Given the description of an element on the screen output the (x, y) to click on. 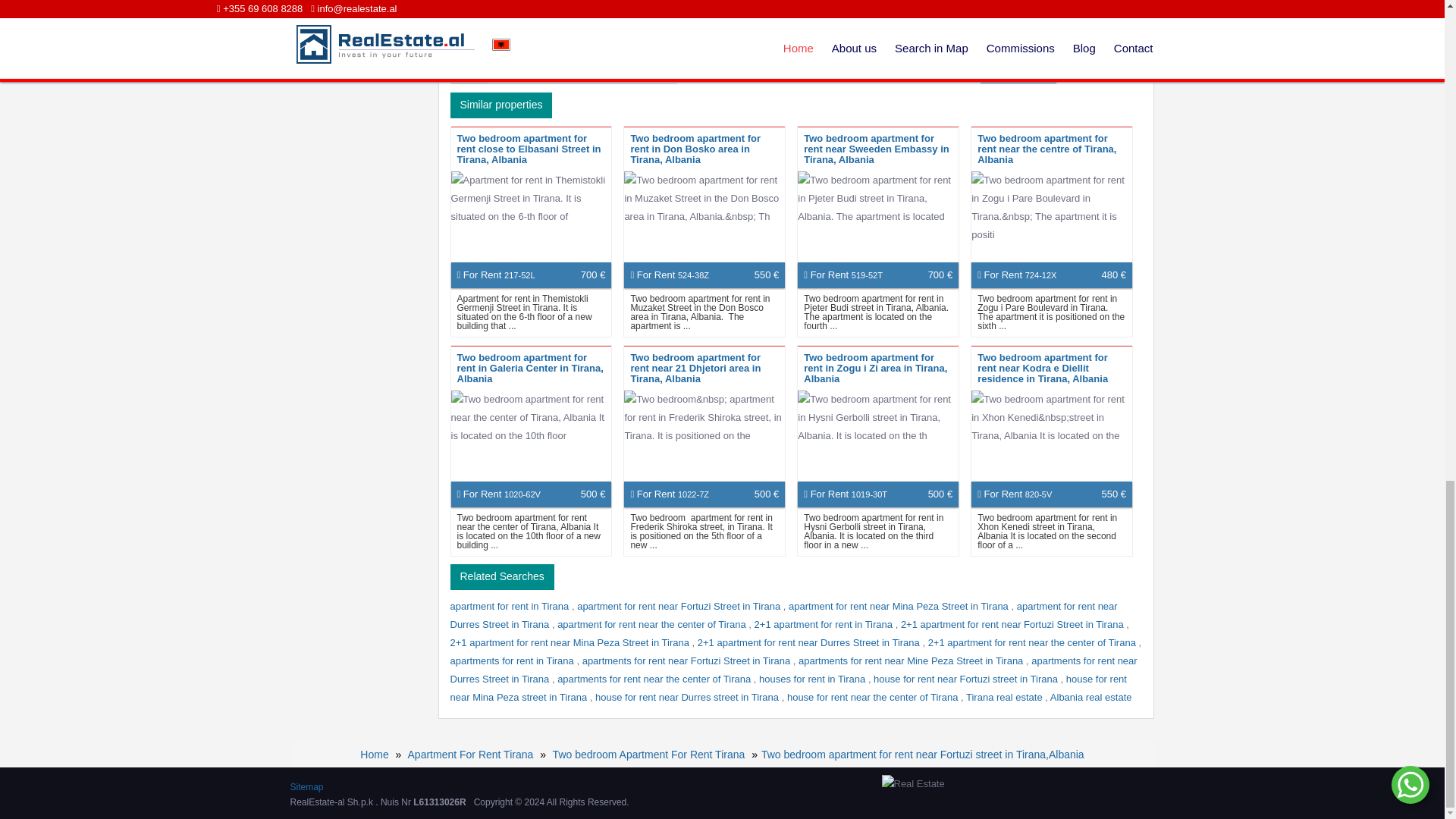
apartment for rent near the center of Tirana (652, 624)
Send message (1018, 71)
Related Searches (501, 576)
apartment for rent near Fortuzi Street in Tirana (679, 605)
Similar properties (501, 104)
apartment for rent in Tirana (510, 605)
apartment for rent near Mina Peza Street in Tirana (899, 605)
Send message (1018, 71)
apartment for rent near Durres Street in Tirana (783, 614)
